Given the description of an element on the screen output the (x, y) to click on. 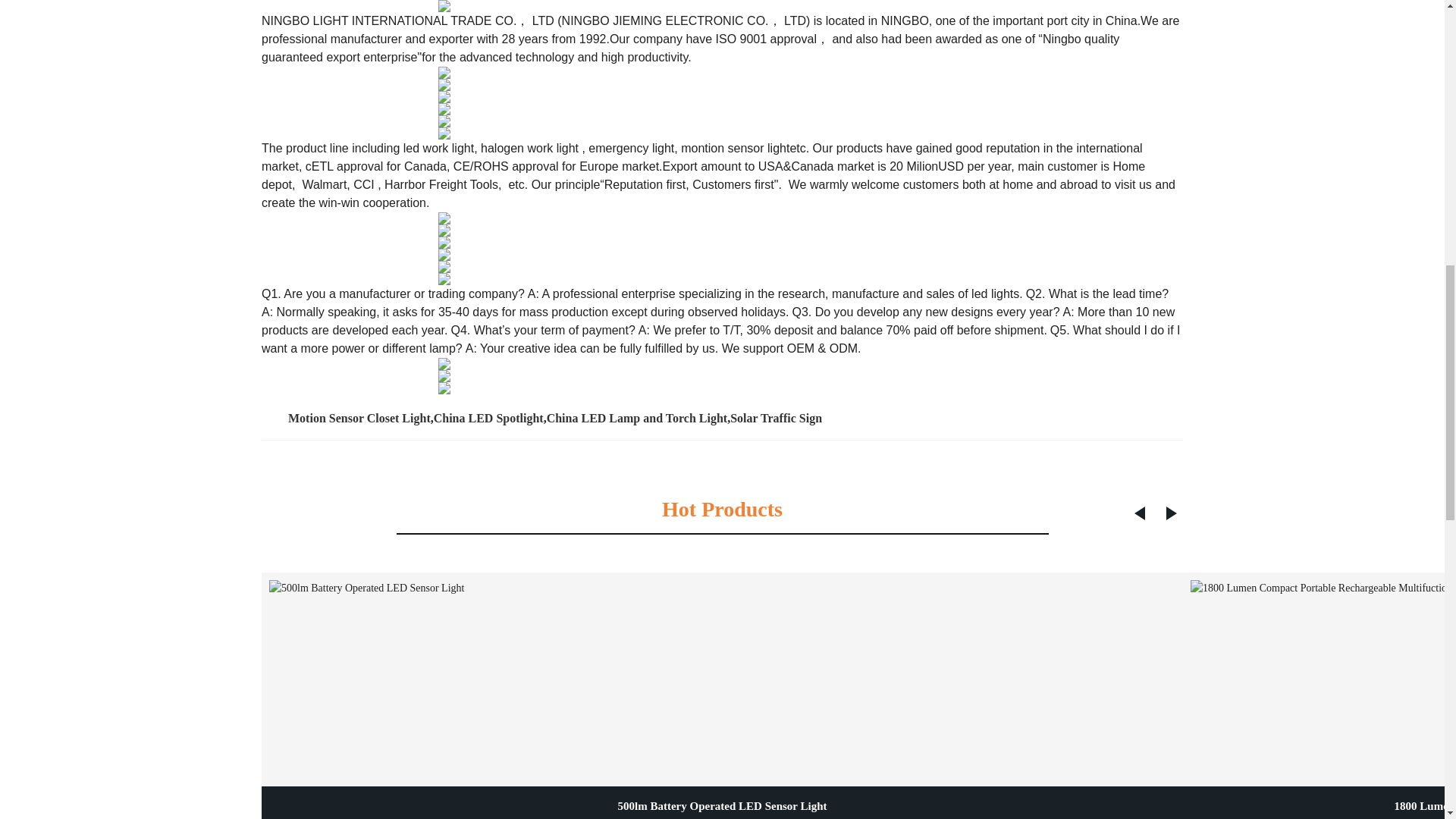
Motion Sensor Closet Light (359, 418)
China LED Spotlight (488, 418)
China LED Lamp and Torch Light (636, 418)
Solar Traffic Sign (776, 418)
